Given the description of an element on the screen output the (x, y) to click on. 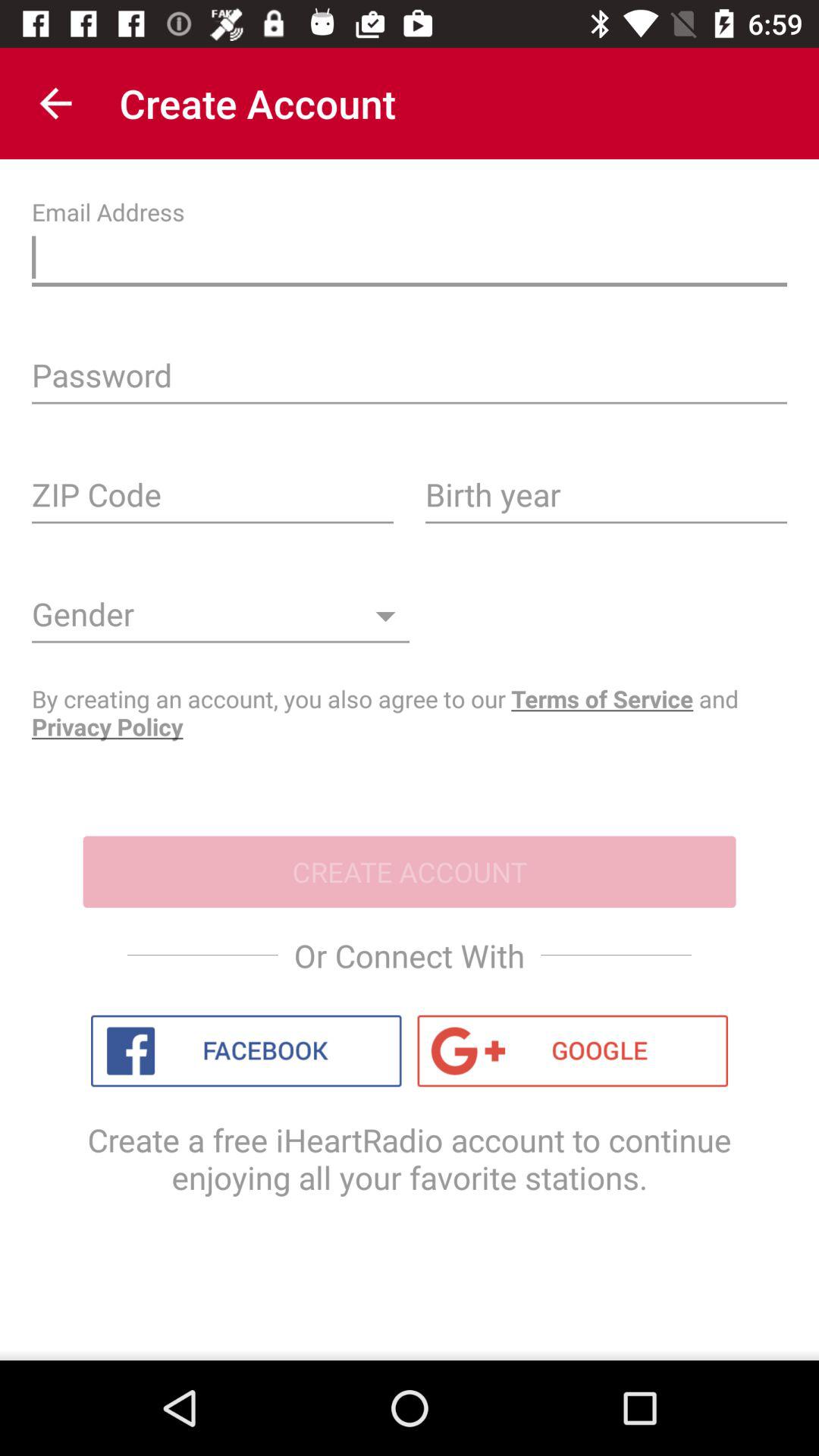
google account login (572, 1050)
